Given the description of an element on the screen output the (x, y) to click on. 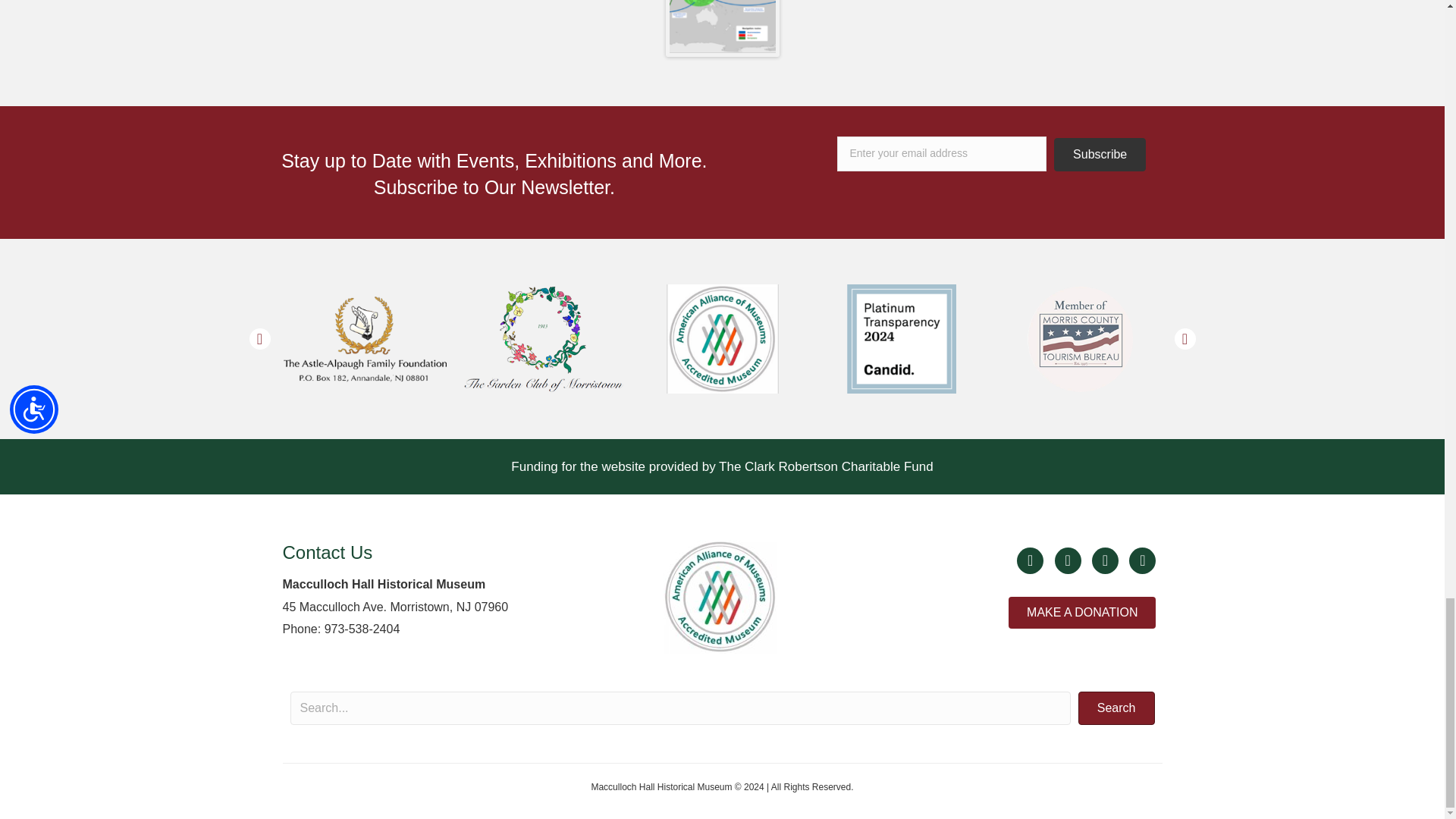
Coconut trade map (721, 28)
